Given the description of an element on the screen output the (x, y) to click on. 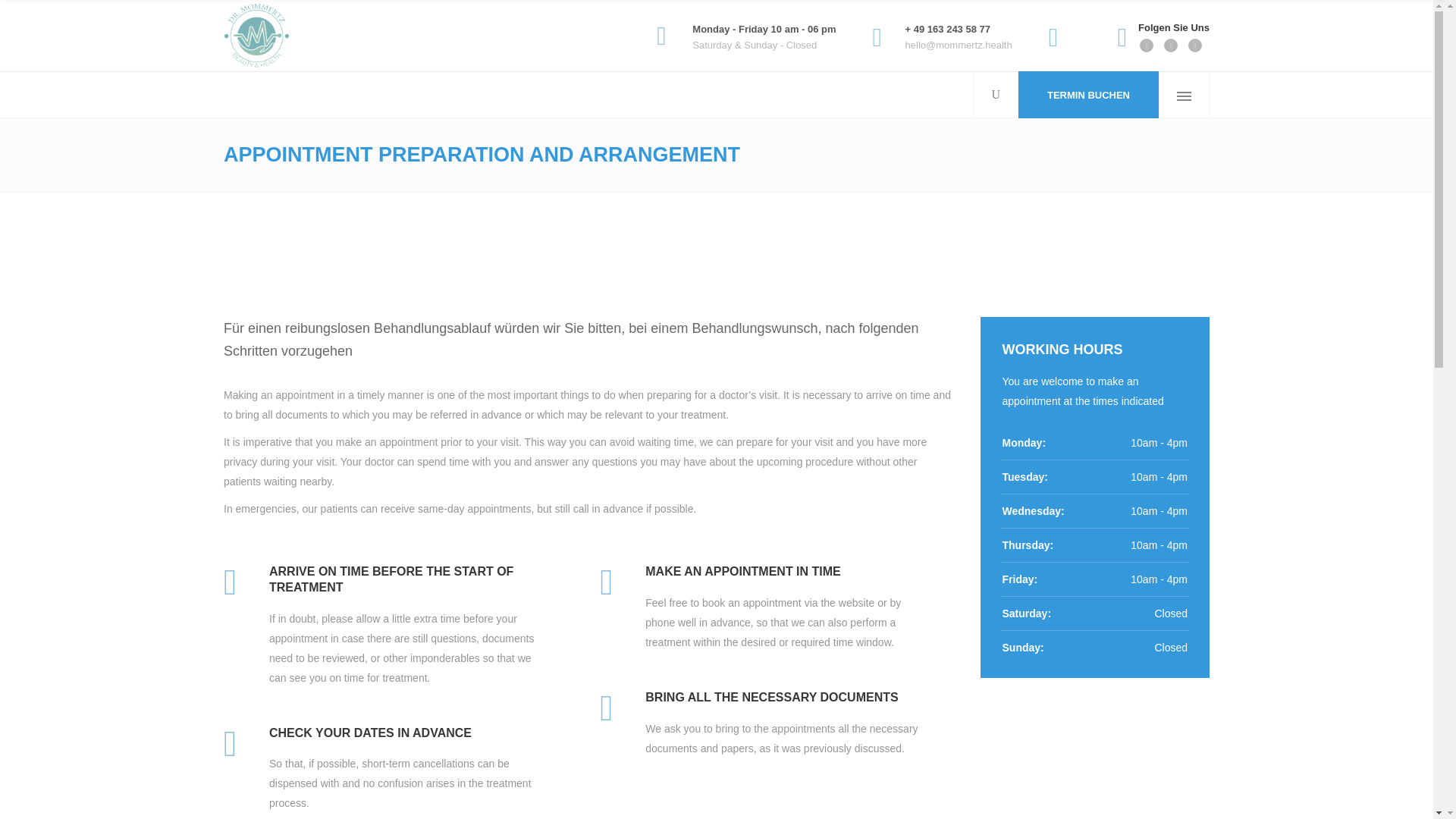
TERMIN BUCHEN (1087, 94)
Search (1121, 25)
Search (968, 142)
